Given the description of an element on the screen output the (x, y) to click on. 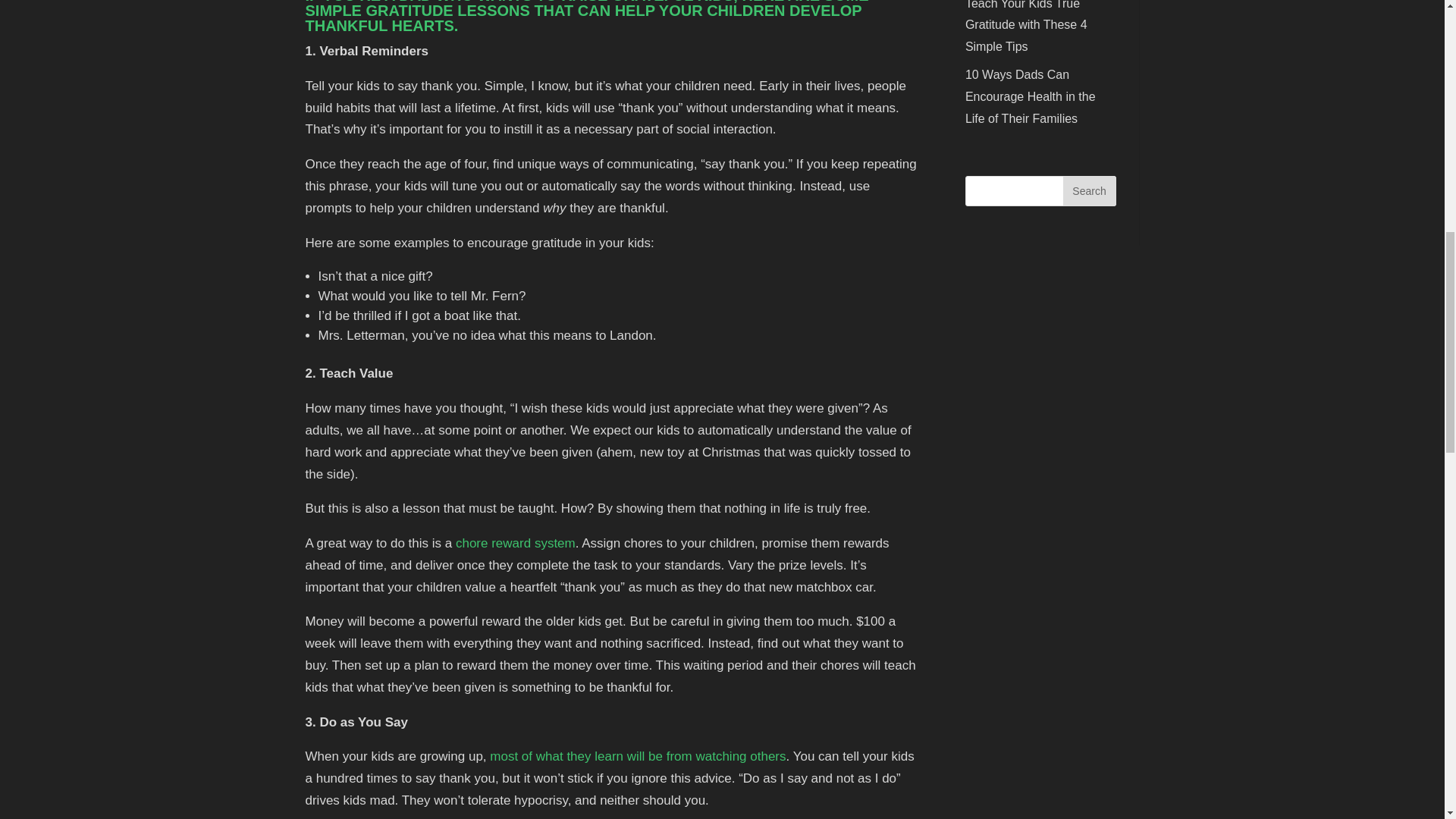
Search (1089, 191)
chore reward system (515, 543)
Teach Your Kids True Gratitude with These 4 Simple Tips (1026, 27)
most of what they learn will be from watching others (637, 756)
Search (1089, 191)
